Given the description of an element on the screen output the (x, y) to click on. 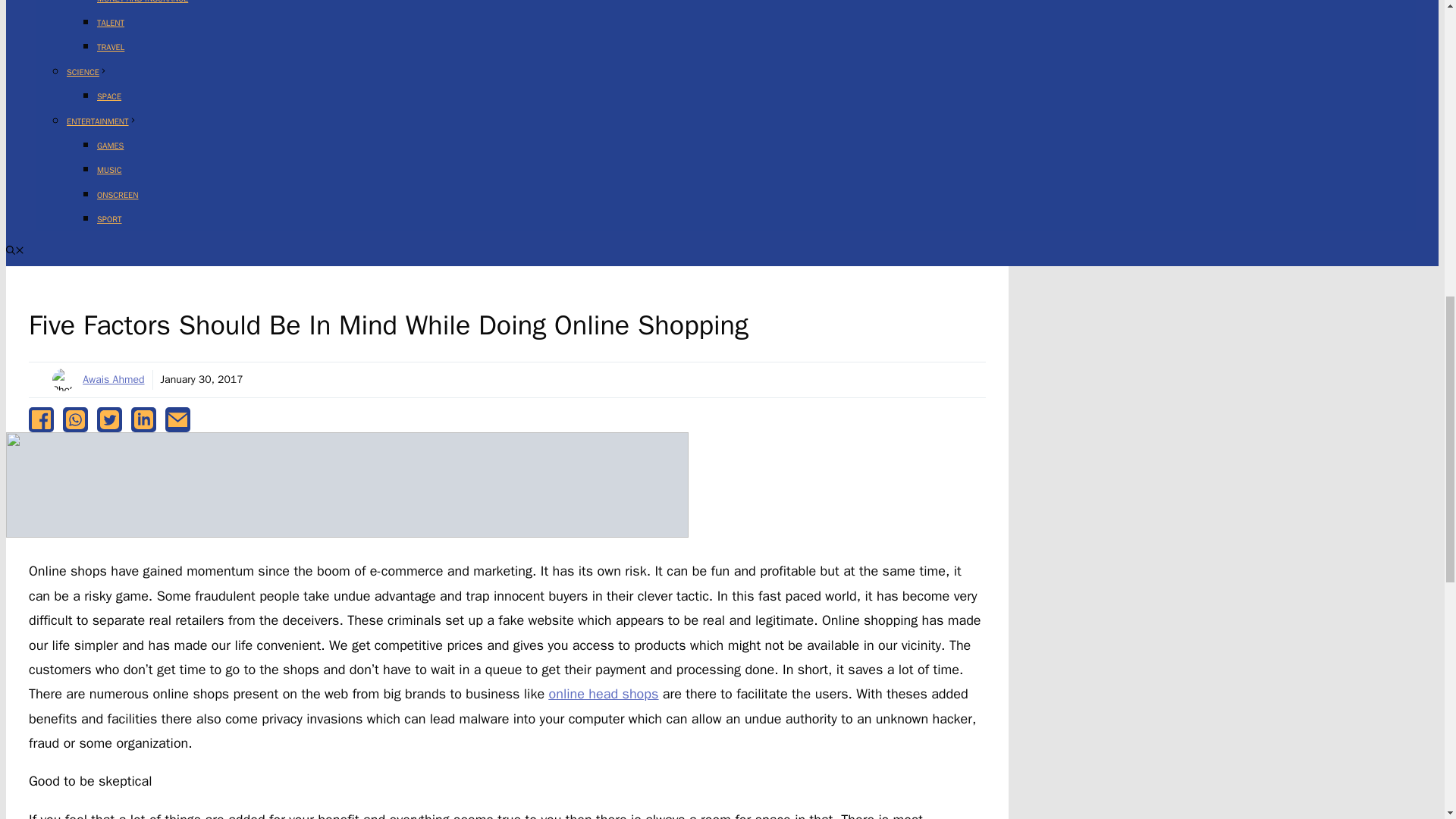
MUSIC (109, 169)
TRAVEL (110, 46)
TALENT (110, 22)
GAMES (110, 145)
SCIENCE (86, 71)
ENTERTAINMENT (101, 121)
SPACE (108, 95)
MONEY AND INSURANCE (142, 2)
